Given the description of an element on the screen output the (x, y) to click on. 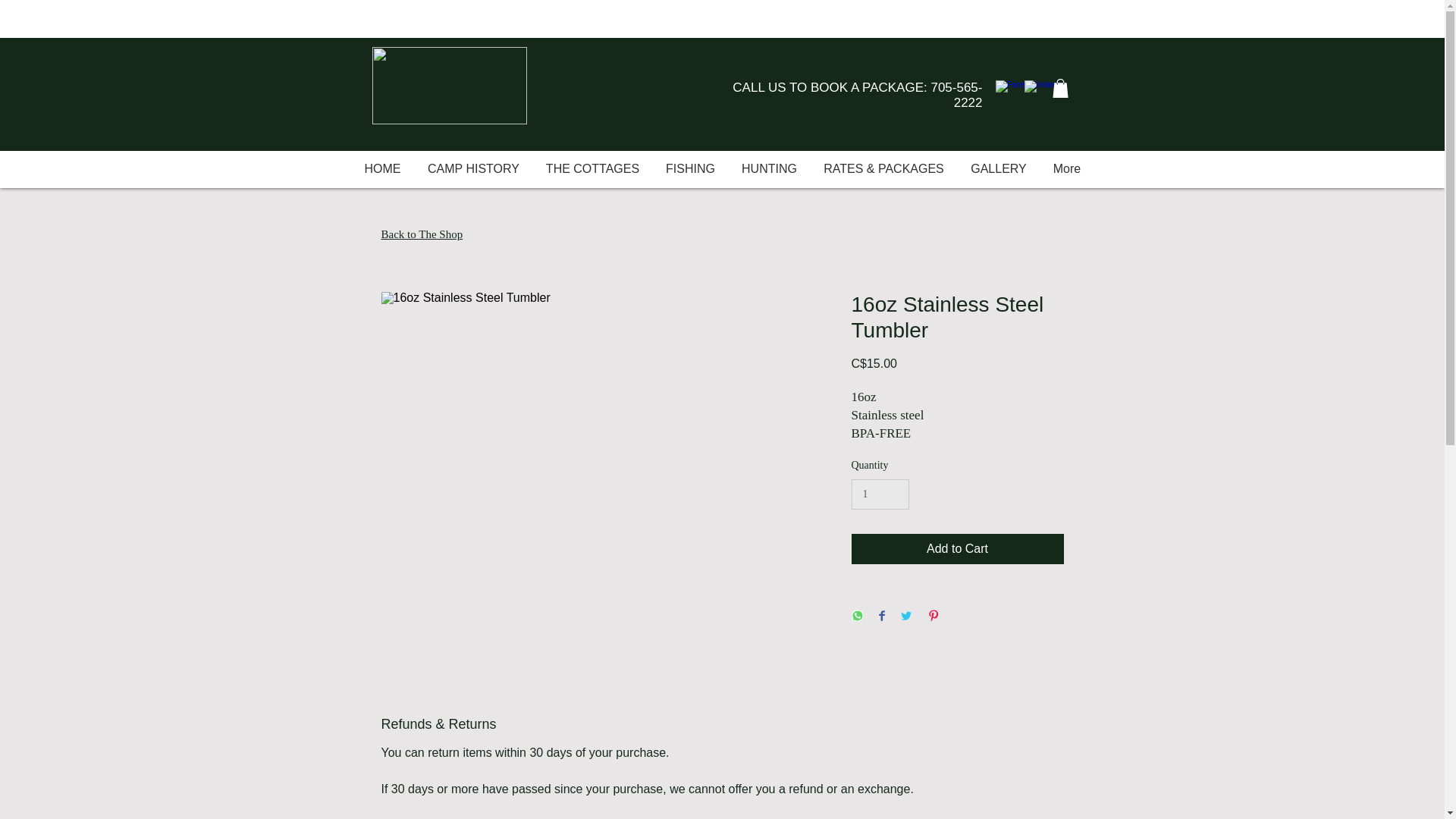
THE COTTAGES (592, 168)
GALLERY (997, 168)
FISHING (690, 168)
HOME (381, 168)
HUNTING (768, 168)
Add to Cart (956, 548)
CAMP HISTORY (472, 168)
Horeseshoe Island Camp Logo (448, 85)
705-565-2222 (955, 94)
1 (879, 494)
Back to The Shop (421, 234)
